Given the description of an element on the screen output the (x, y) to click on. 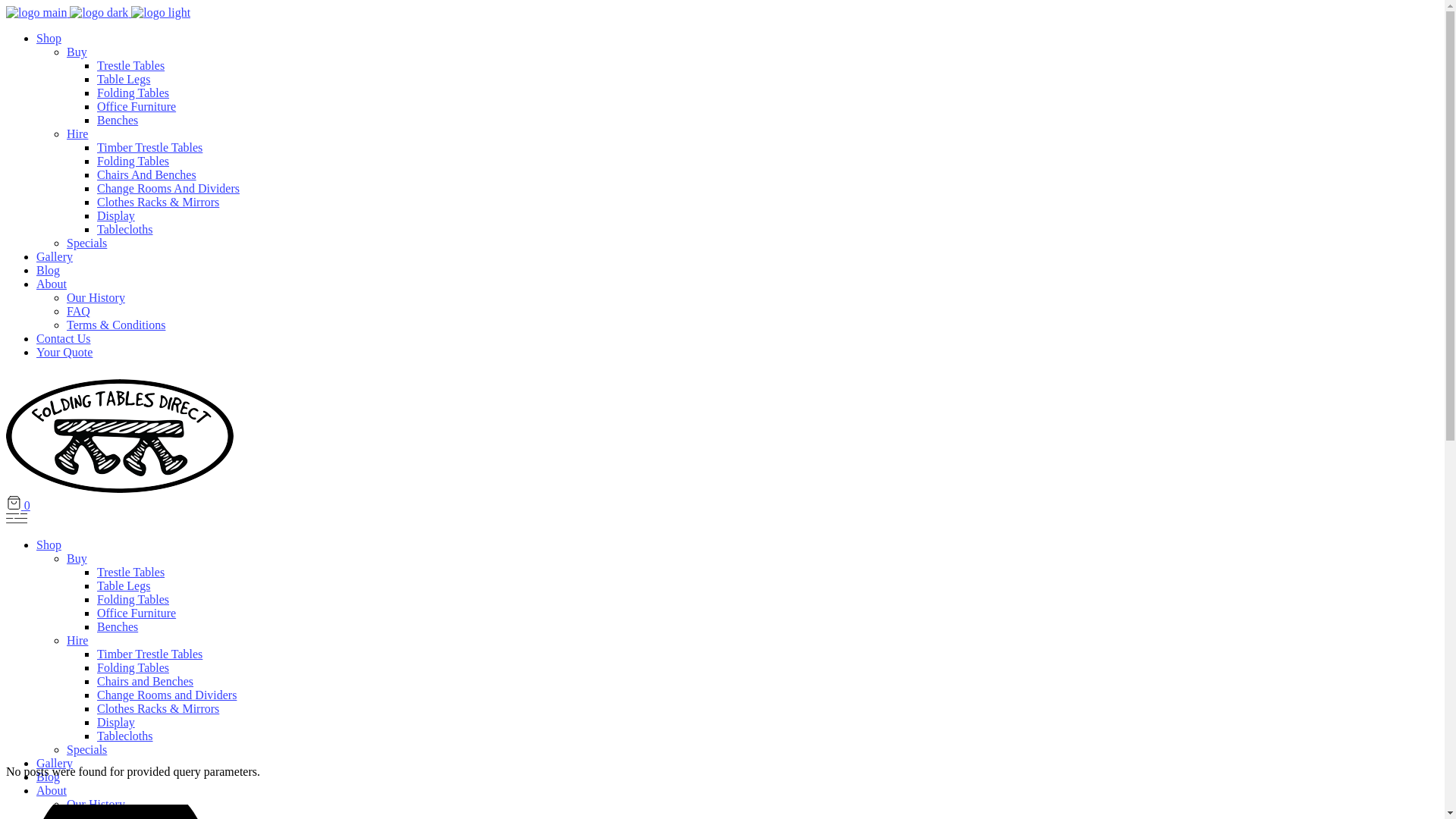
Blog Element type: text (47, 269)
Trestle Tables Element type: text (130, 571)
Specials Element type: text (86, 242)
Our History Element type: text (95, 297)
Display Element type: text (115, 721)
Gallery Element type: text (54, 762)
FAQ Element type: text (78, 310)
Blog Element type: text (47, 776)
Contact Us Element type: text (63, 338)
Display Element type: text (115, 215)
Benches Element type: text (117, 119)
About Element type: text (51, 790)
Clothes Racks & Mirrors Element type: text (158, 708)
Gallery Element type: text (54, 256)
Change Rooms And Dividers Element type: text (168, 188)
Hire Element type: text (76, 639)
Chairs and Benches Element type: text (145, 680)
About Element type: text (51, 283)
Timber Trestle Tables Element type: text (149, 653)
Shop Element type: text (48, 37)
Table Legs Element type: text (123, 585)
Tablecloths Element type: text (125, 228)
Benches Element type: text (117, 626)
Table Legs Element type: text (123, 78)
Folding Tables Element type: text (133, 160)
Buy Element type: text (76, 558)
Specials Element type: text (86, 749)
Office Furniture Element type: text (136, 106)
Folding Tables Element type: text (133, 667)
Your Quote Element type: text (64, 351)
Chairs And Benches Element type: text (146, 174)
Terms & Conditions Element type: text (115, 324)
Tablecloths Element type: text (125, 735)
Folding Tables Element type: text (133, 92)
Clothes Racks & Mirrors Element type: text (158, 201)
Our History Element type: text (95, 803)
Office Furniture Element type: text (136, 612)
0 Element type: text (18, 504)
Trestle Tables Element type: text (130, 65)
Buy Element type: text (76, 51)
Folding Tables Element type: text (133, 599)
Timber Trestle Tables Element type: text (149, 147)
Hire Element type: text (76, 133)
Shop Element type: text (48, 544)
Change Rooms and Dividers Element type: text (166, 694)
